Given the description of an element on the screen output the (x, y) to click on. 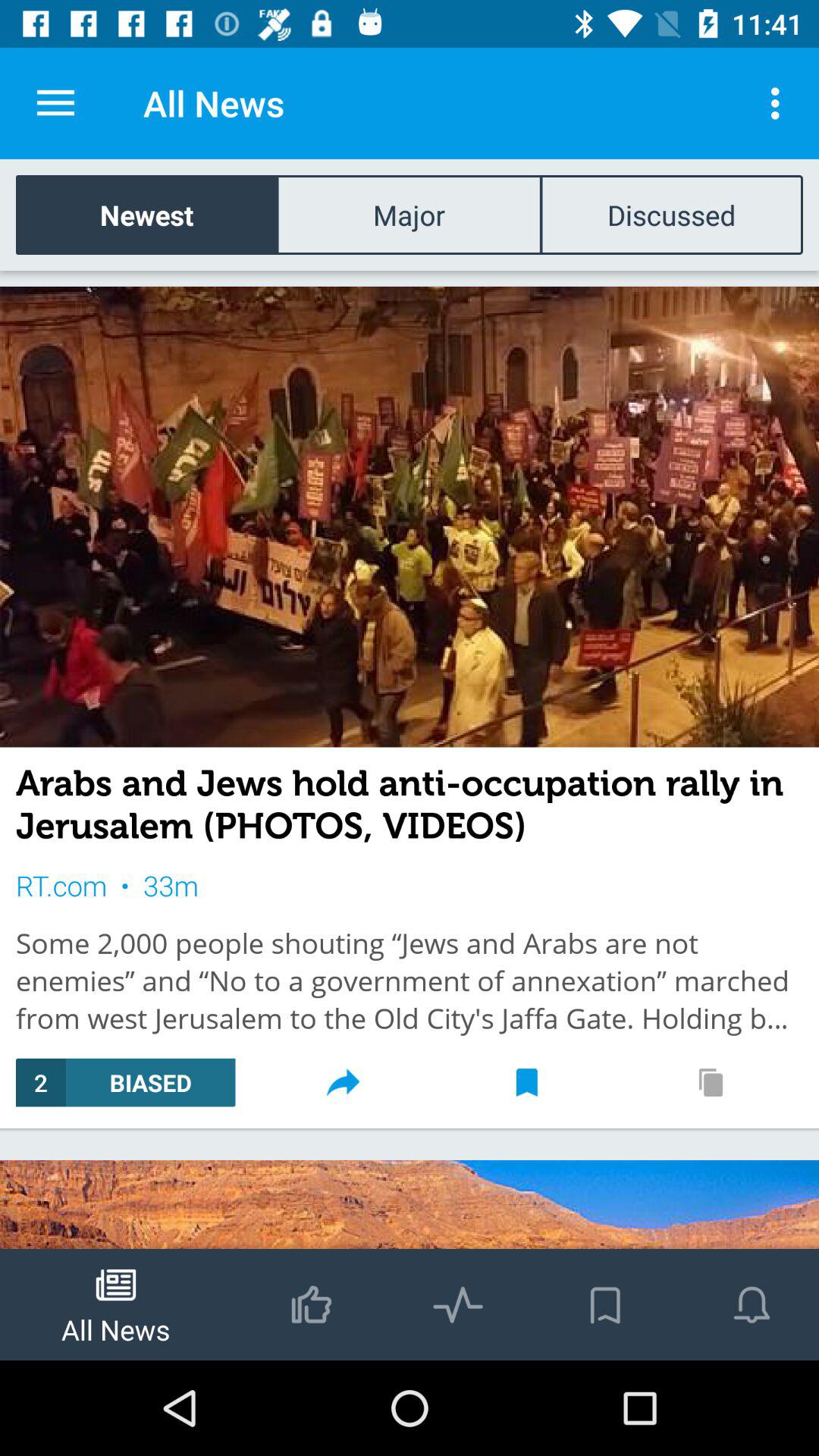
jump until the major (409, 214)
